Given the description of an element on the screen output the (x, y) to click on. 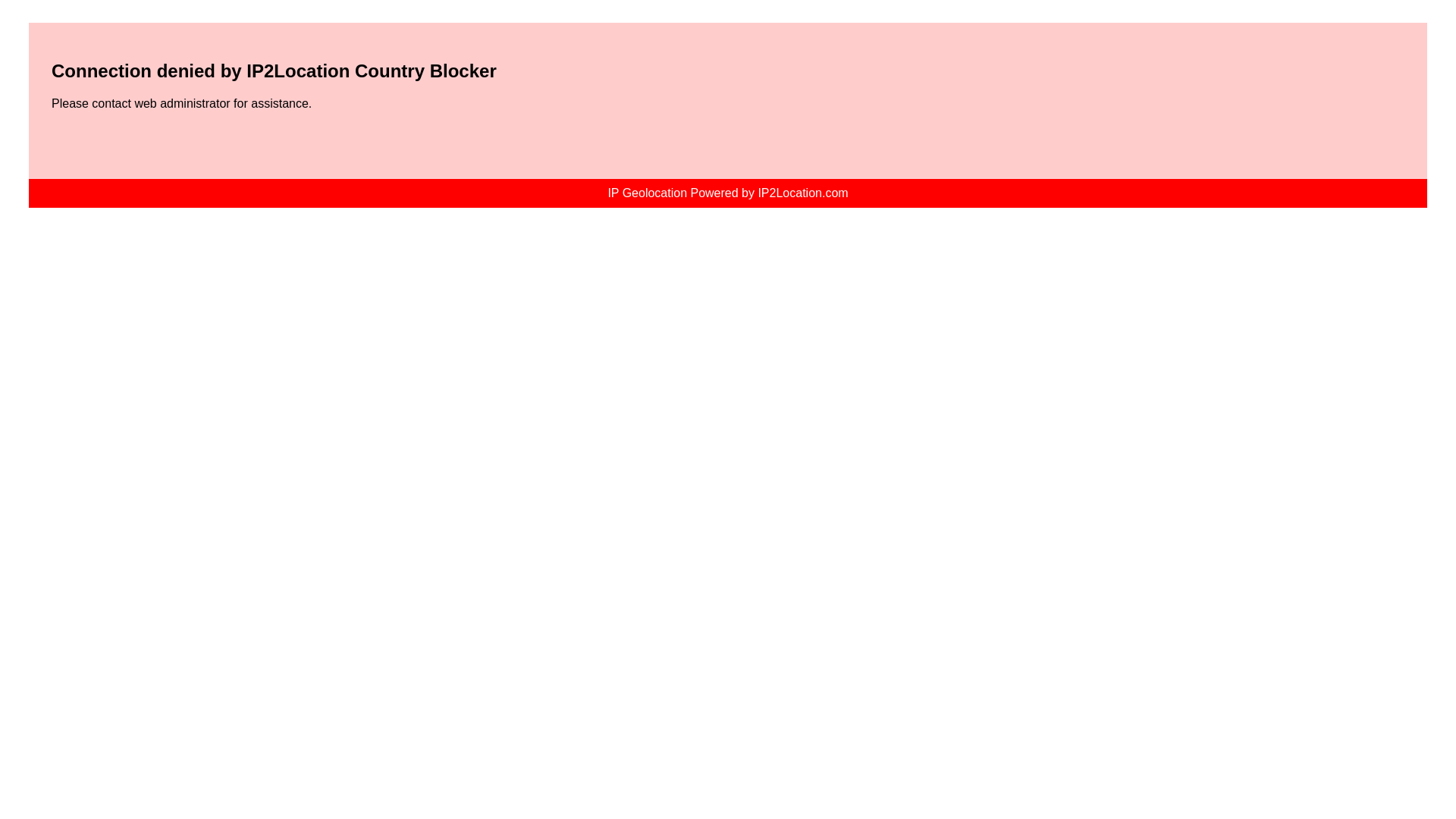
IP Geolocation Powered by IP2Location.com (727, 192)
